Given the description of an element on the screen output the (x, y) to click on. 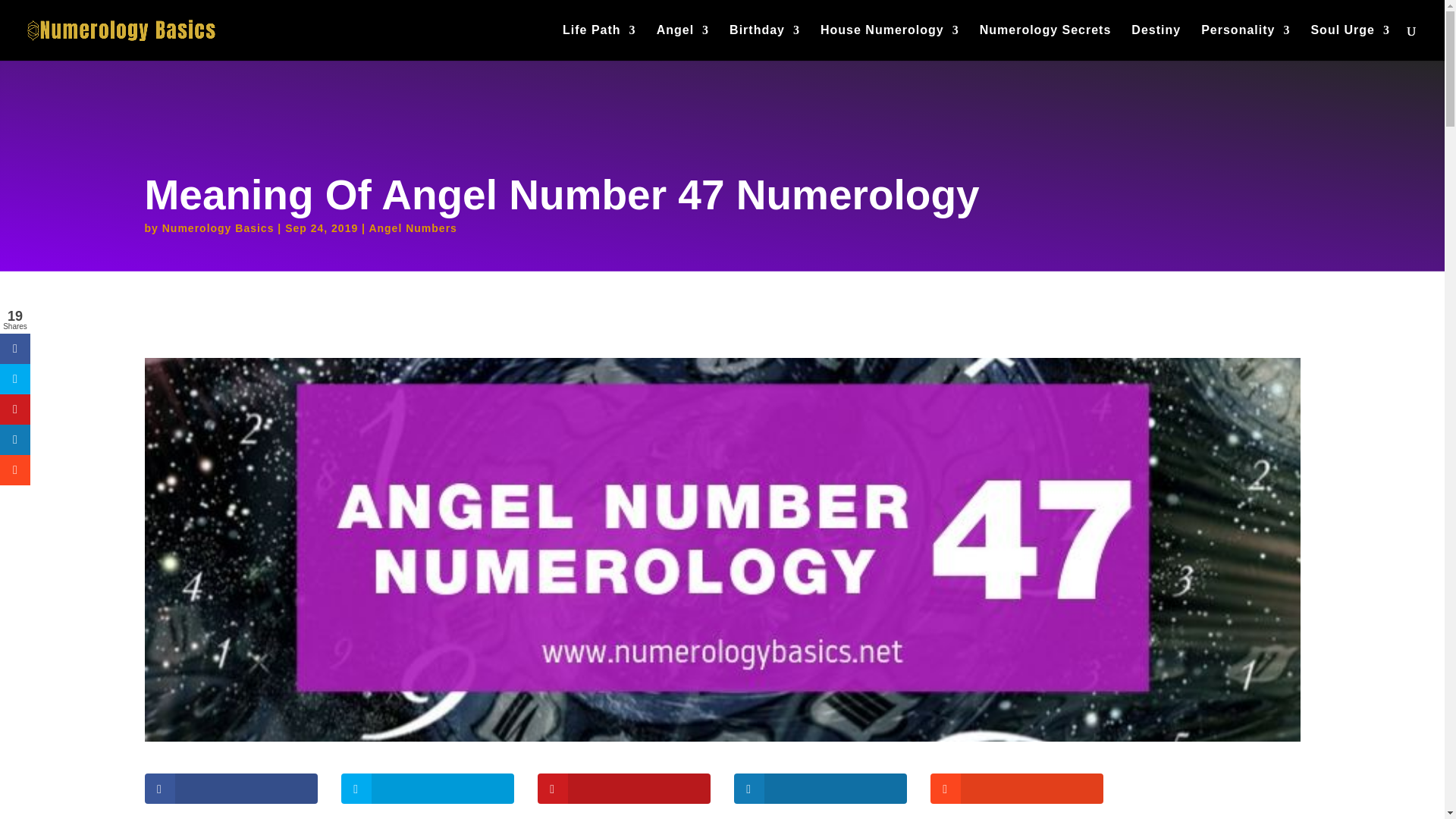
Angel (682, 42)
Birthday (764, 42)
Posts by Numerology Basics (218, 227)
Life Path (599, 42)
